Given the description of an element on the screen output the (x, y) to click on. 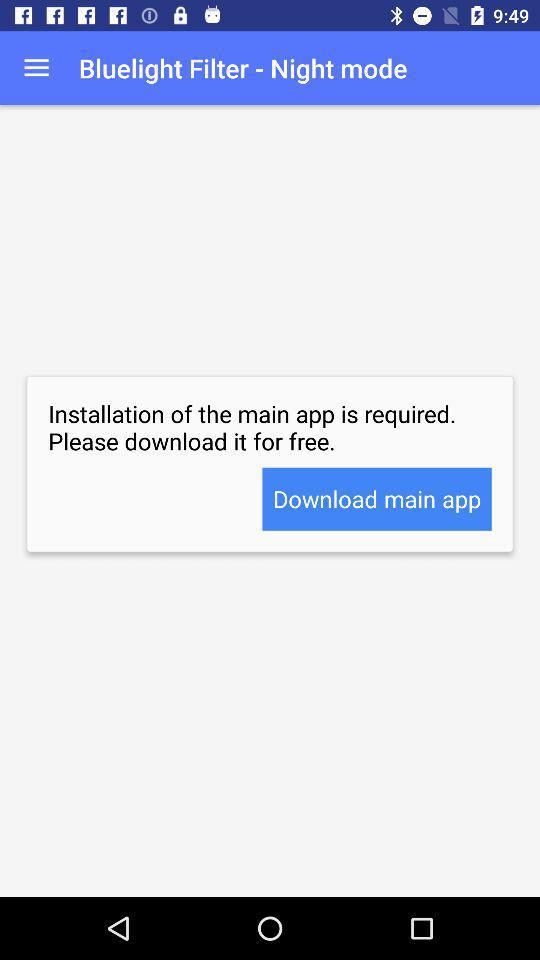
open the item above the installation of the item (36, 68)
